Given the description of an element on the screen output the (x, y) to click on. 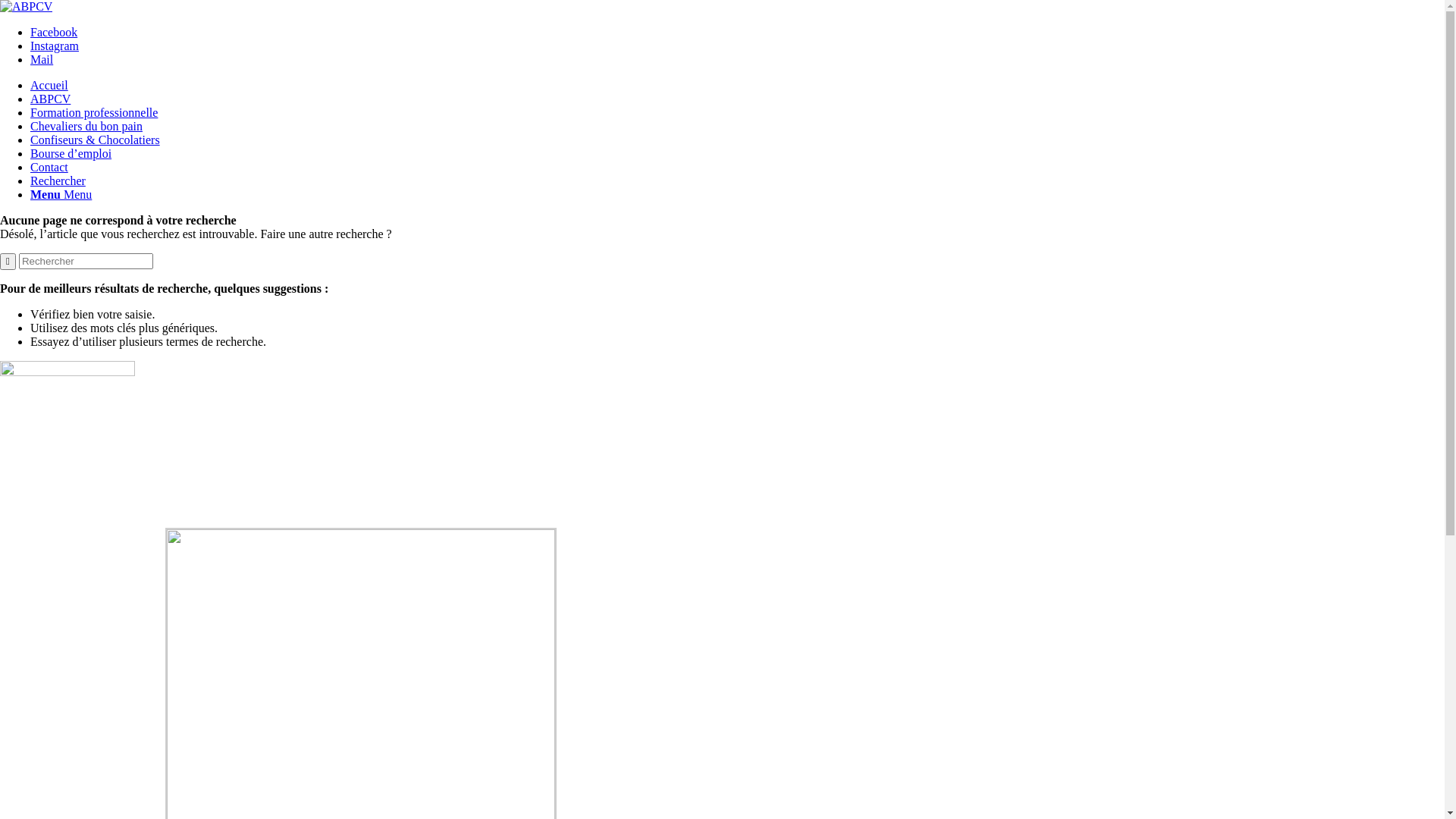
Confiseurs & Chocolatiers Element type: text (95, 139)
ABPCV Element type: text (50, 98)
Instagram Element type: text (54, 45)
Rechercher Element type: text (57, 180)
Chevaliers du bon pain Element type: text (86, 125)
Accueil Element type: text (49, 84)
Facebook Element type: text (53, 31)
Menu Menu Element type: text (60, 194)
Formation professionnelle Element type: text (93, 112)
logo Element type: hover (26, 6)
Contact Element type: text (49, 166)
Mail Element type: text (41, 59)
